Given the description of an element on the screen output the (x, y) to click on. 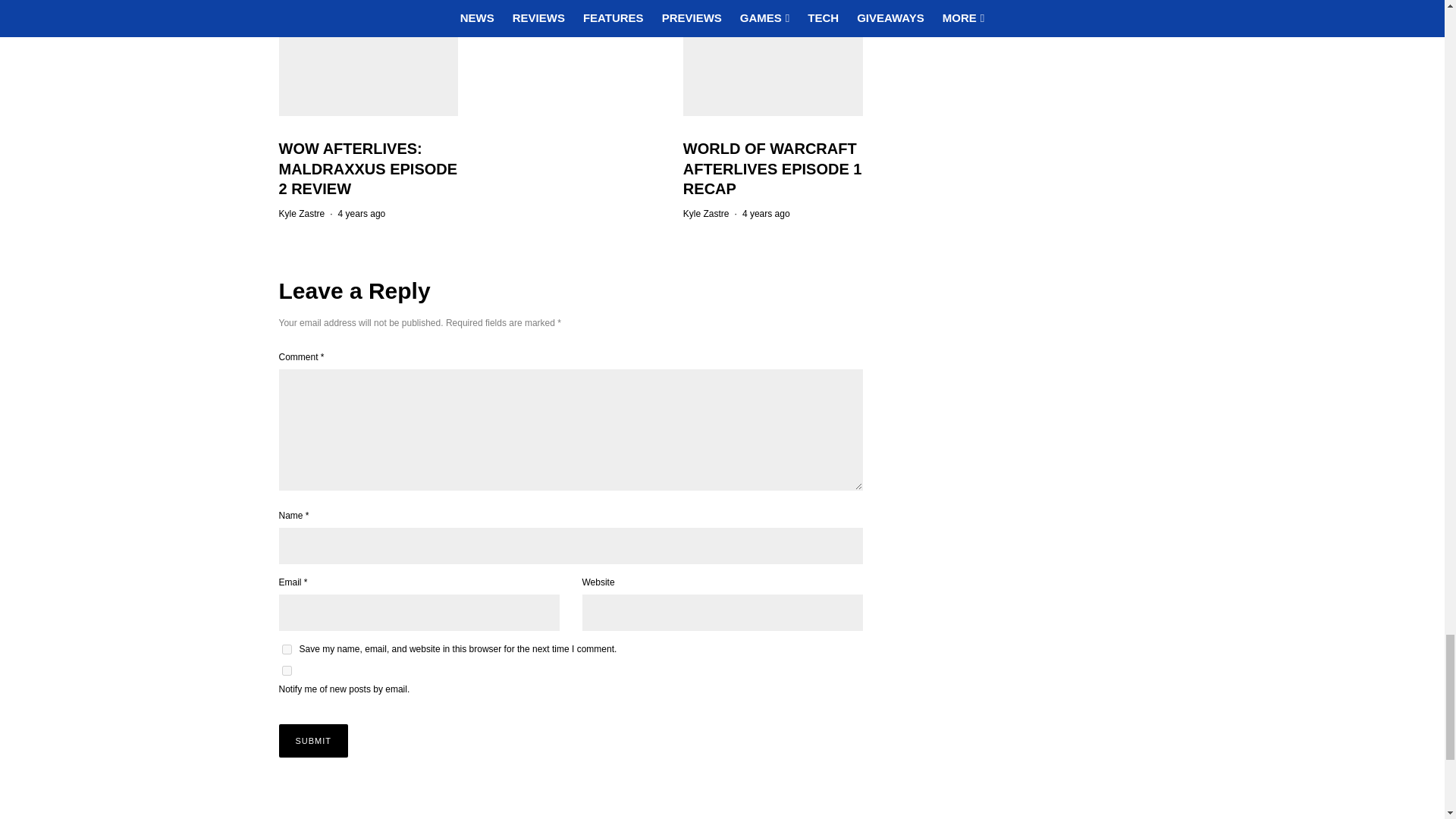
Submit (314, 740)
yes (287, 649)
subscribe (287, 670)
